Given the description of an element on the screen output the (x, y) to click on. 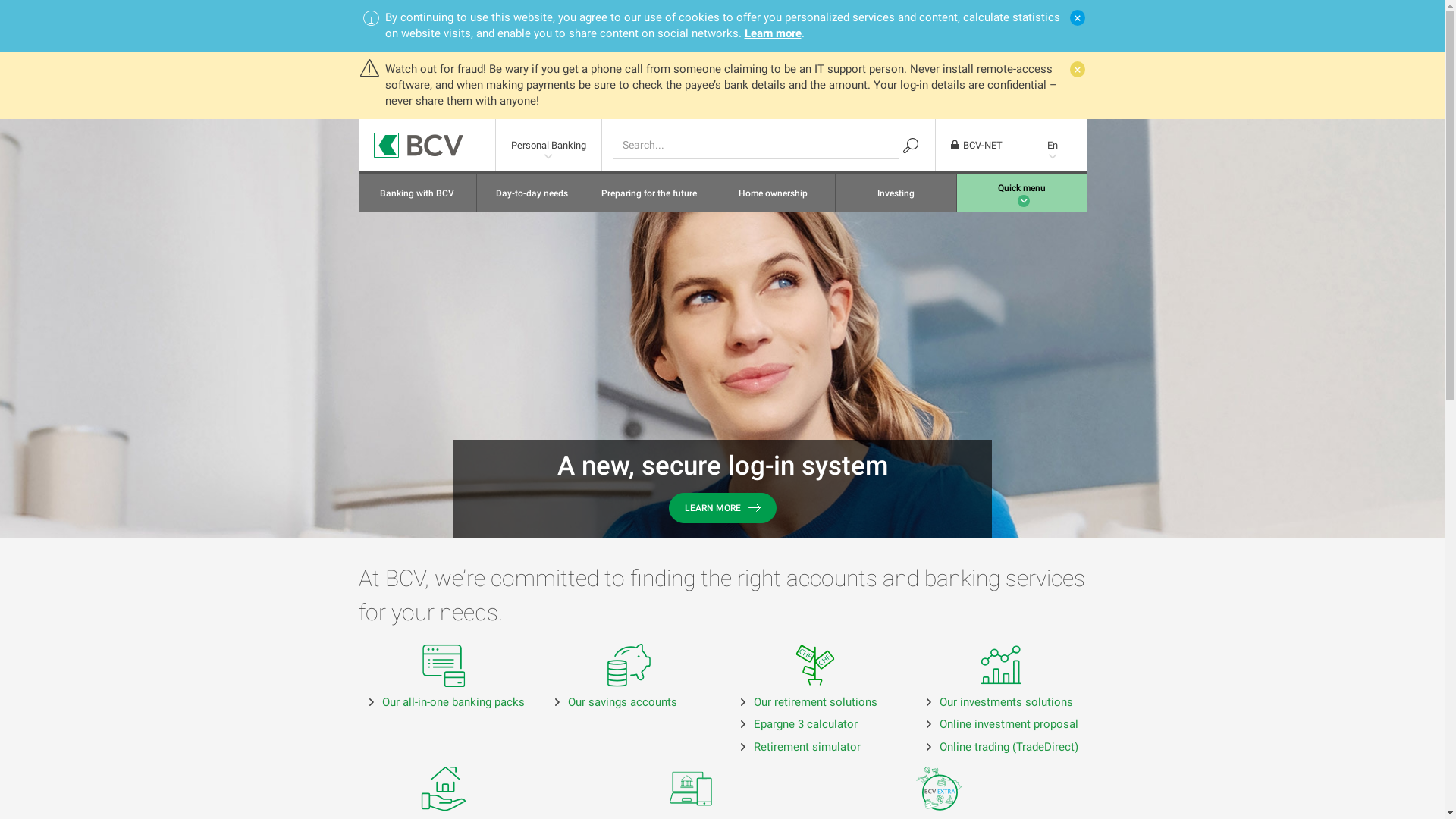
Online investment proposal Element type: text (1007, 724)
Learn more Element type: text (772, 33)
Quick menu Element type: text (1021, 193)
Investing Element type: text (895, 193)
Day-to-day needs Element type: text (531, 193)
Retirement simulator Element type: text (806, 746)
Banking with BCV Element type: text (416, 193)
En Element type: text (1051, 145)
Epargne 3 calculator Element type: text (805, 724)
Home ownership Element type: text (772, 193)
LEARN MORE Element type: text (722, 507)
Our retirement solutions Element type: text (815, 702)
BCV-NET Element type: text (976, 145)
Personal Banking Element type: text (548, 145)
Preparing for the future Element type: text (649, 193)
Online trading (TradeDirect) Element type: text (1007, 746)
Our savings accounts Element type: text (621, 702)
Our all-in-one banking packs Element type: text (453, 702)
Our investments solutions Element type: text (1005, 702)
